Given the description of an element on the screen output the (x, y) to click on. 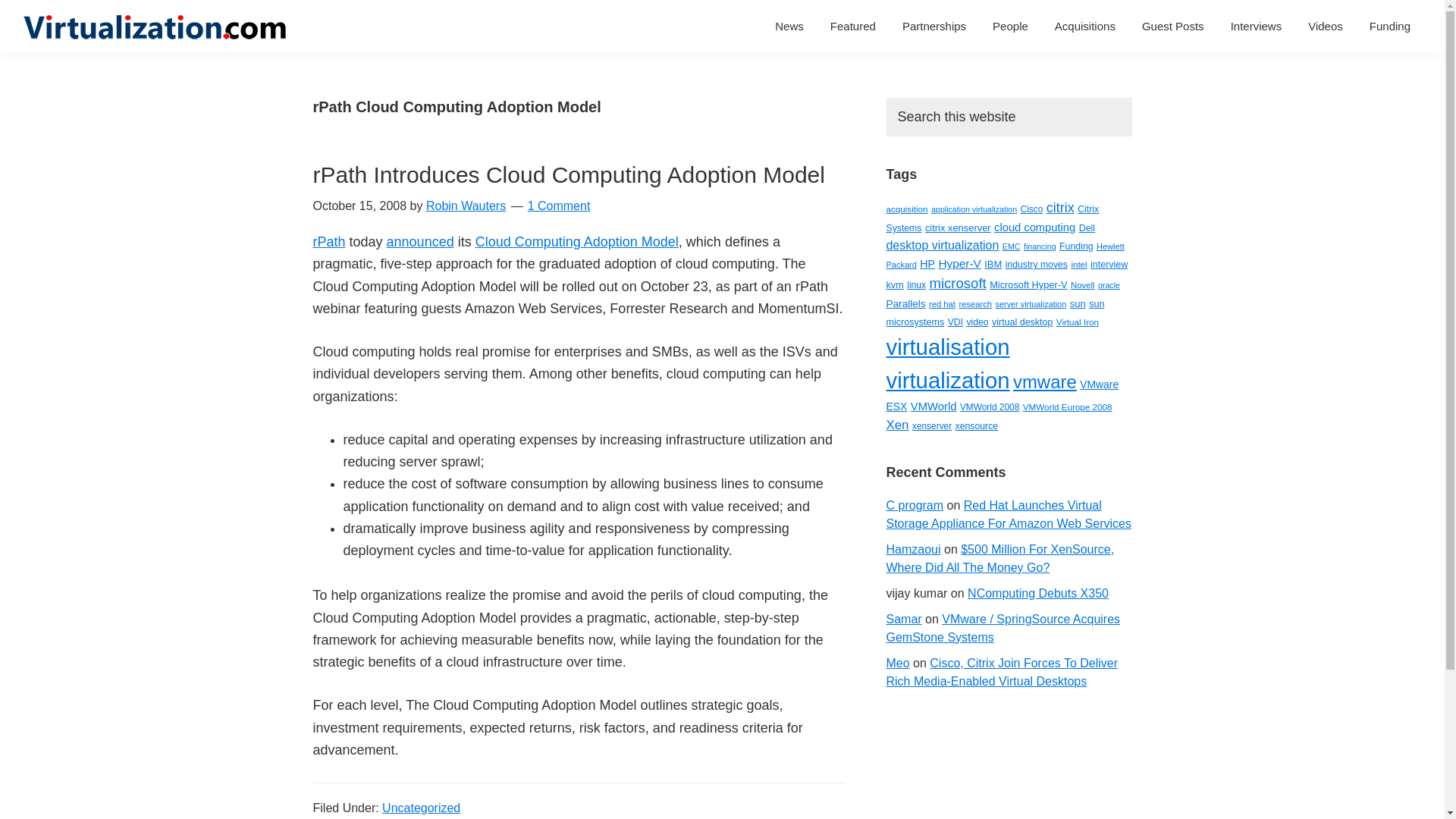
News (788, 25)
announced (420, 241)
Funding (1390, 25)
Uncategorized (420, 807)
Acquisitions (1084, 25)
citrix (1060, 207)
Videos (1325, 25)
1 Comment (559, 205)
application virtualization (973, 208)
Featured (852, 25)
Dell (1086, 227)
Citrix Systems (992, 218)
People (1010, 25)
